Given the description of an element on the screen output the (x, y) to click on. 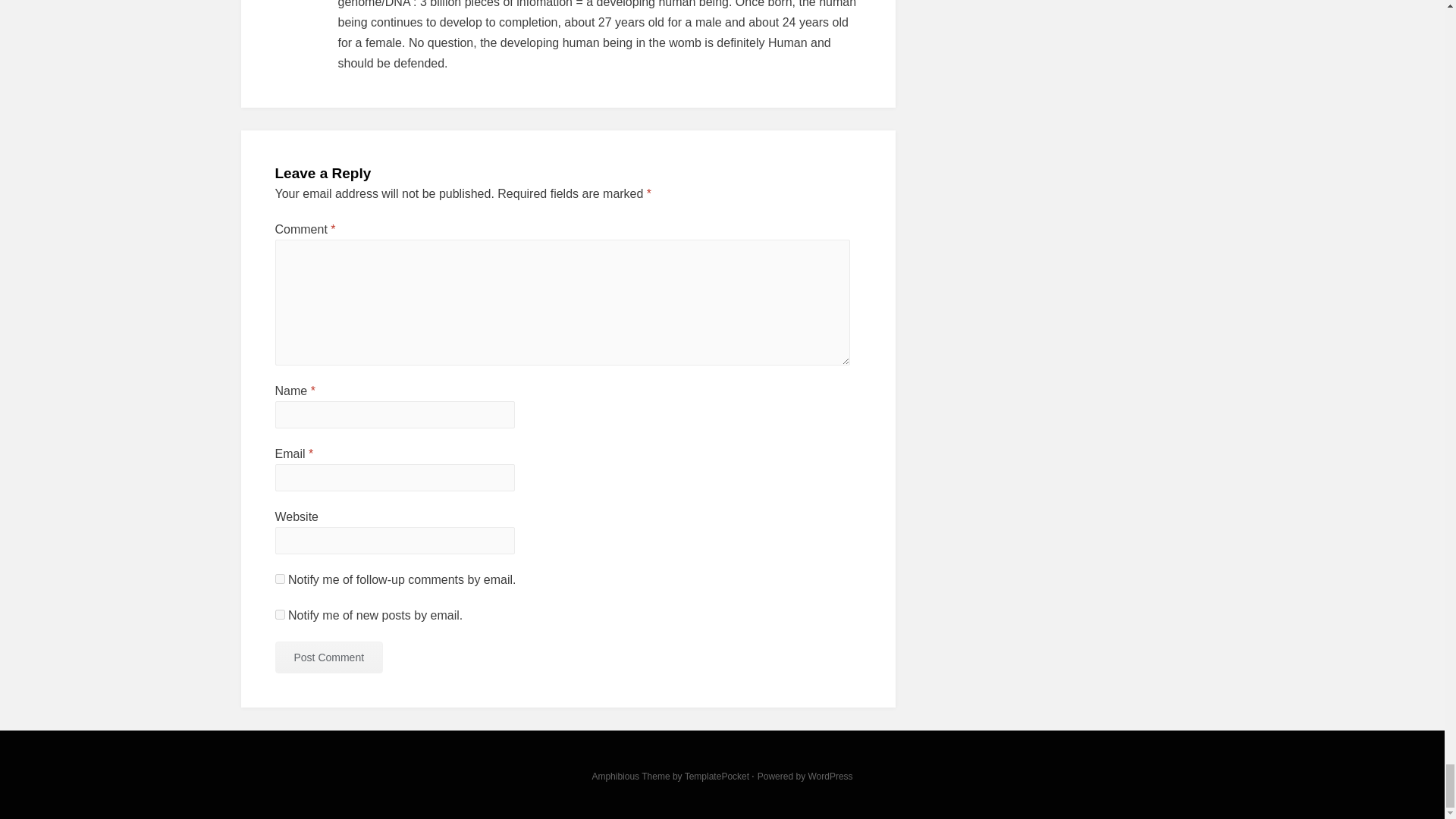
subscribe (279, 578)
Post Comment (328, 657)
subscribe (279, 614)
